Given the description of an element on the screen output the (x, y) to click on. 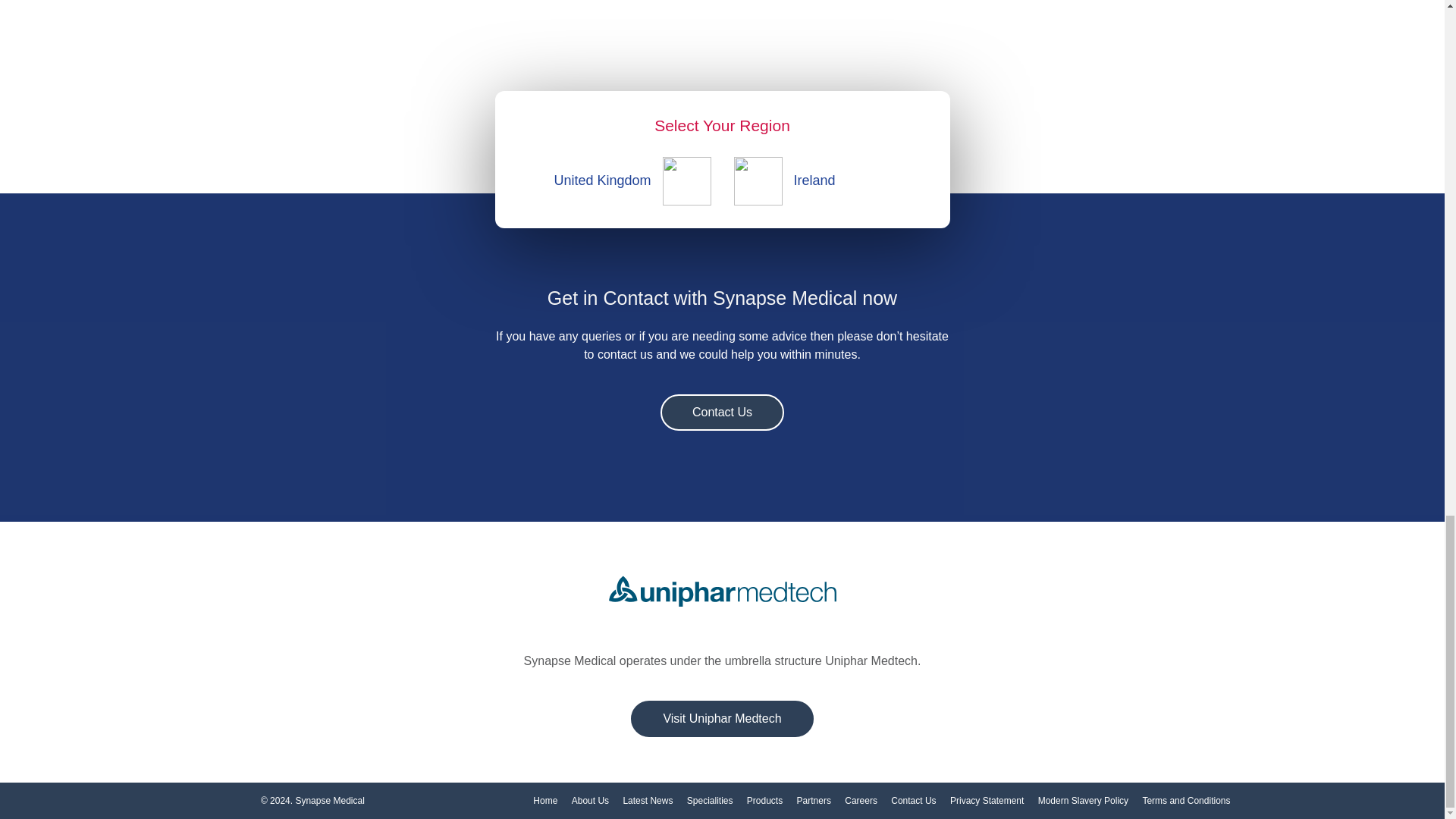
Visit Uniphar Medtech (721, 719)
Privacy Statement (986, 800)
Partners (813, 800)
Specialities (710, 800)
Modern Slavery Policy (1083, 800)
Home (544, 800)
Contact Us (913, 800)
Contact Us (722, 411)
Latest News (647, 800)
Terms and Conditions (1185, 800)
Products (764, 800)
About Us (590, 800)
Careers (860, 800)
